Given the description of an element on the screen output the (x, y) to click on. 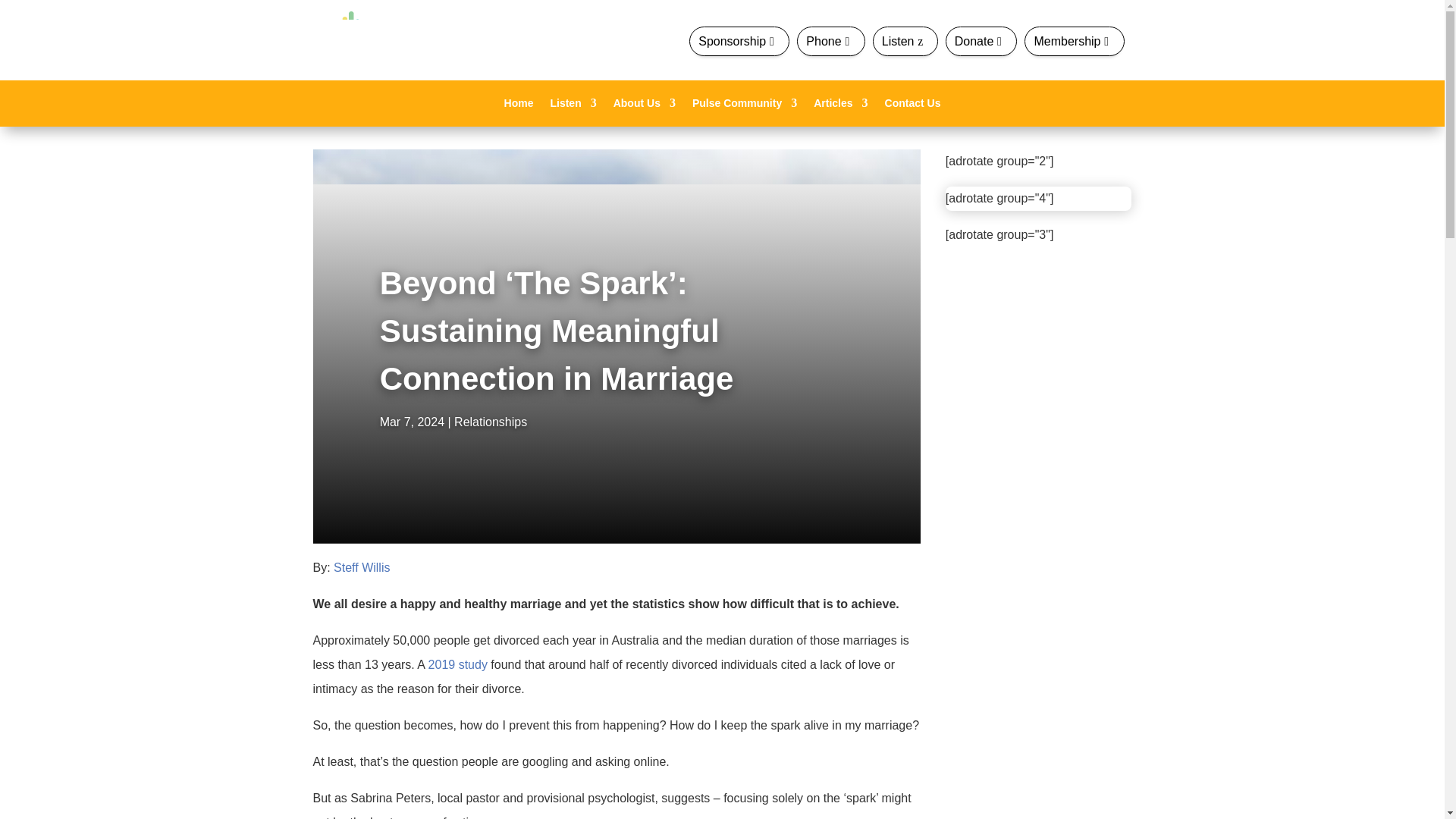
Listen (572, 105)
pulse-logo-23-colour (350, 39)
Donate (980, 41)
About Us (643, 105)
Articles (840, 105)
Home (518, 105)
Listen (904, 41)
Pulse Community (744, 105)
Membership (1074, 41)
Contact Us (912, 105)
Phone (830, 41)
Sponsorship (738, 41)
